Given the description of an element on the screen output the (x, y) to click on. 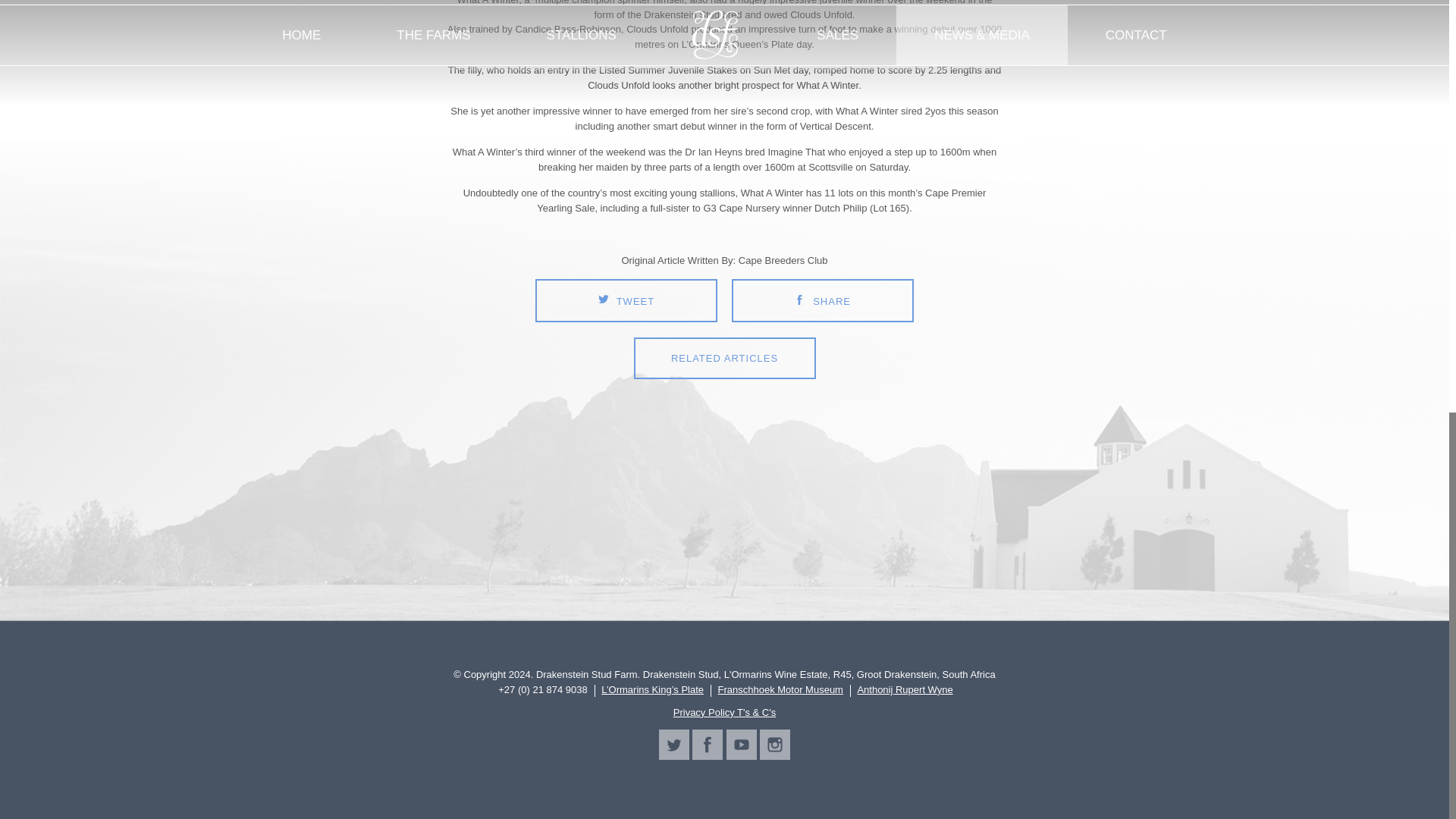
instagram (775, 744)
Anthonij Rupert Wyne (904, 690)
SHARE (823, 300)
Franschhoek Motor Museum (780, 690)
youtube (741, 744)
TWEET (626, 300)
facebook (707, 744)
twitter (673, 744)
RELATED ARTICLES (724, 358)
